Given the description of an element on the screen output the (x, y) to click on. 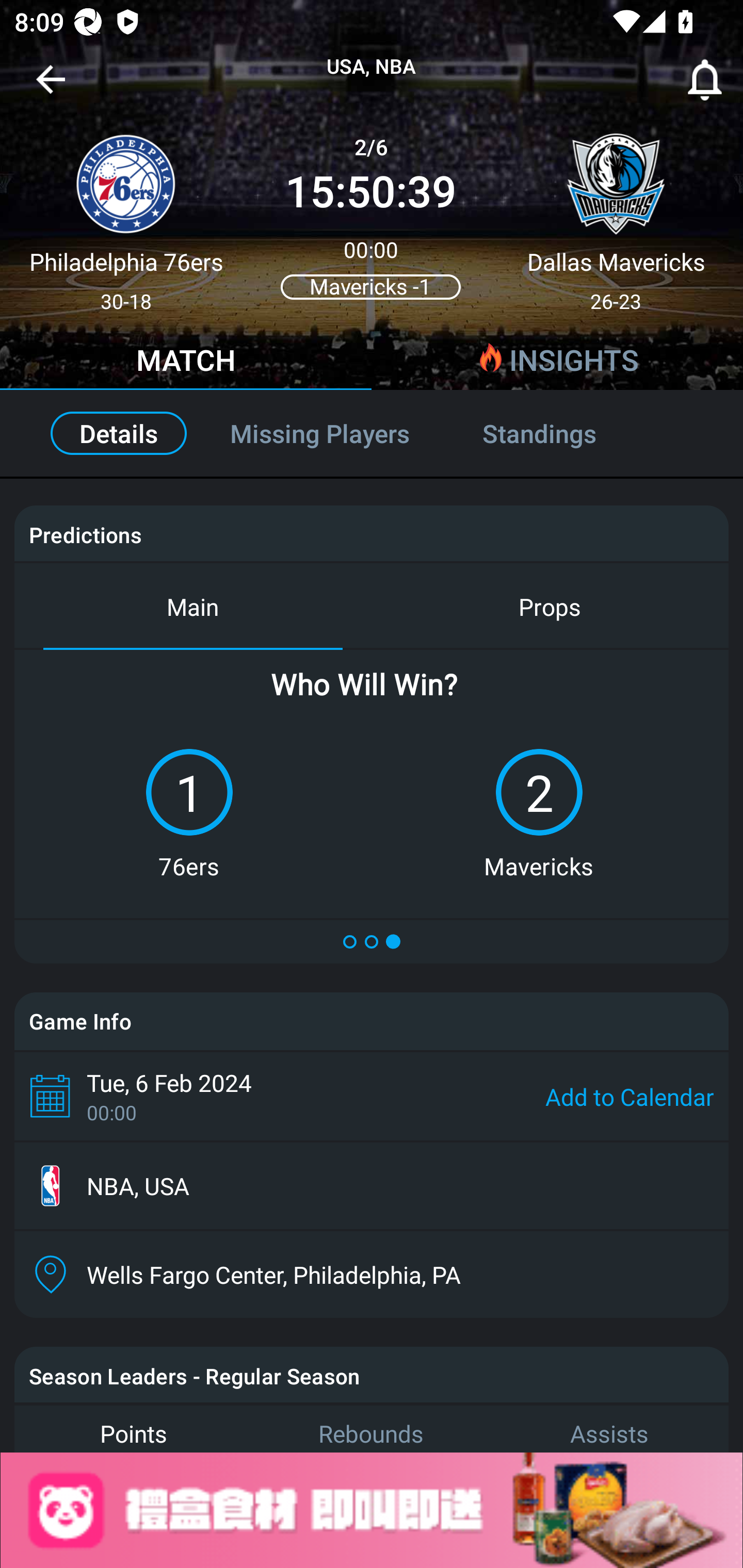
Navigate up (50, 86)
USA, NBA (371, 66)
Philadelphia 76ers 30-18 (126, 214)
Dallas Mavericks 26-23 (616, 214)
MATCH (185, 362)
INSIGHTS (557, 362)
Missing Players (319, 433)
Standings (561, 433)
Predictions (85, 534)
Props (549, 605)
1 (189, 792)
2 (538, 792)
Game Info (371, 1021)
Tue, 6 Feb 2024 00:00 Add to Calendar (371, 1095)
NBA, USA (371, 1186)
Wells Fargo Center, Philadelphia, PA (371, 1273)
Rebounds (371, 1427)
Assists (609, 1427)
Advertisement (371, 1509)
